Given the description of an element on the screen output the (x, y) to click on. 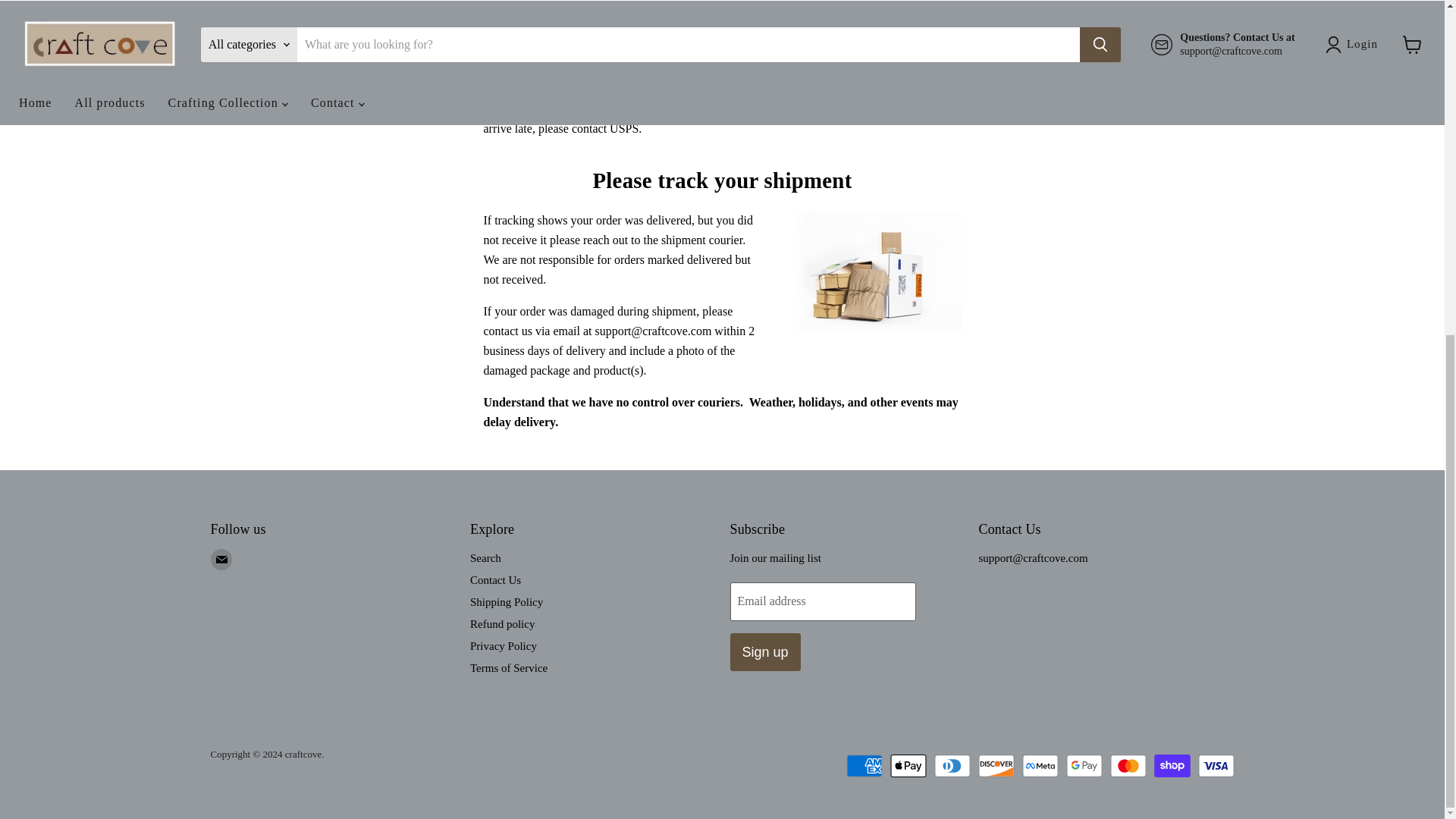
Email (221, 559)
Shop Pay (1172, 765)
Visa (1216, 765)
Discover (996, 765)
USPS Priority Mail Express (551, 108)
Mastercard (1128, 765)
Apple Pay (907, 765)
American Express (863, 765)
Meta Pay (1040, 765)
Diners Club (952, 765)
